Given the description of an element on the screen output the (x, y) to click on. 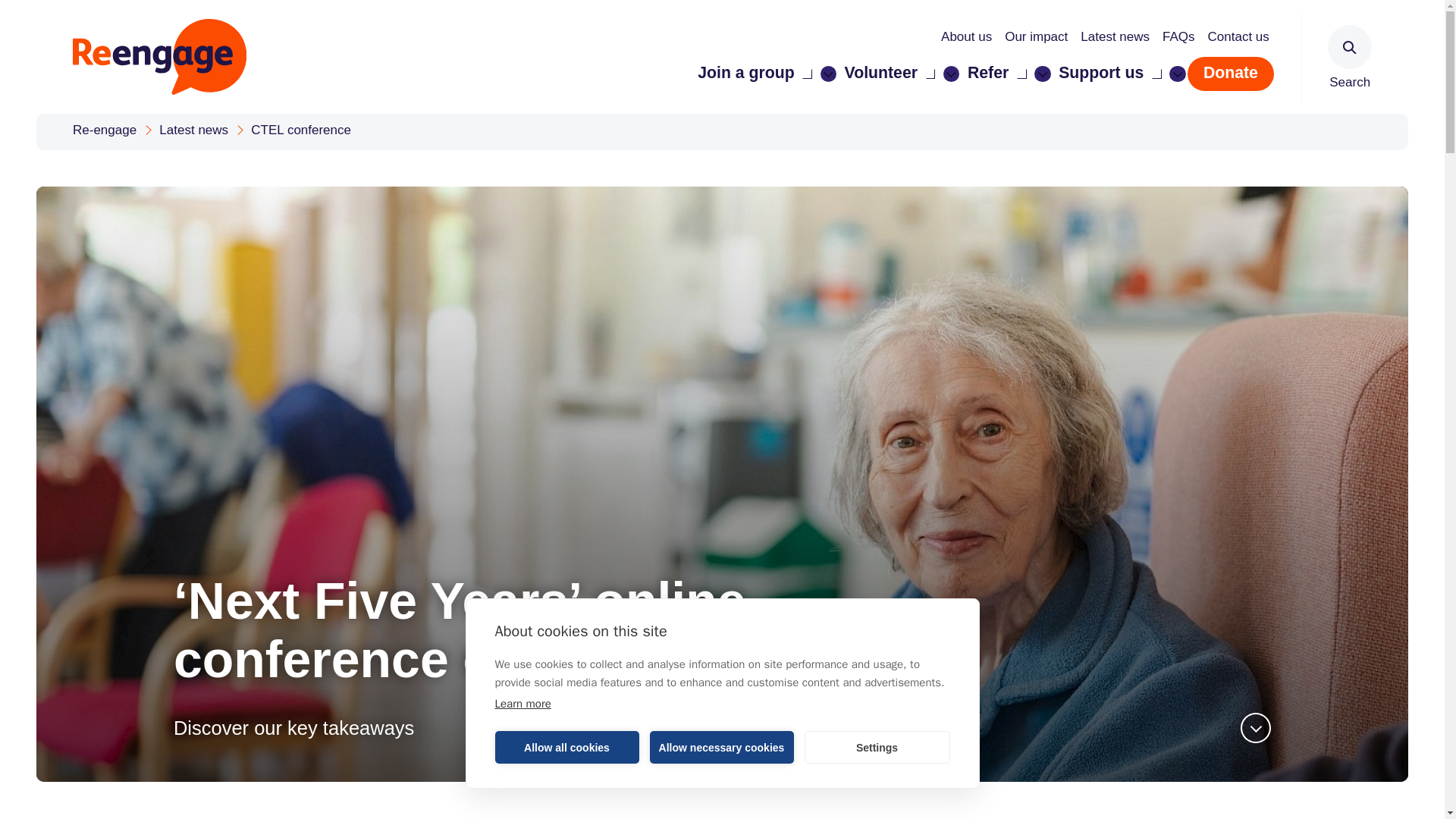
Link to: Refer (996, 73)
Latest news (186, 129)
Re-engage (105, 129)
Link to: Homepage (159, 56)
Search (37, 16)
